Given the description of an element on the screen output the (x, y) to click on. 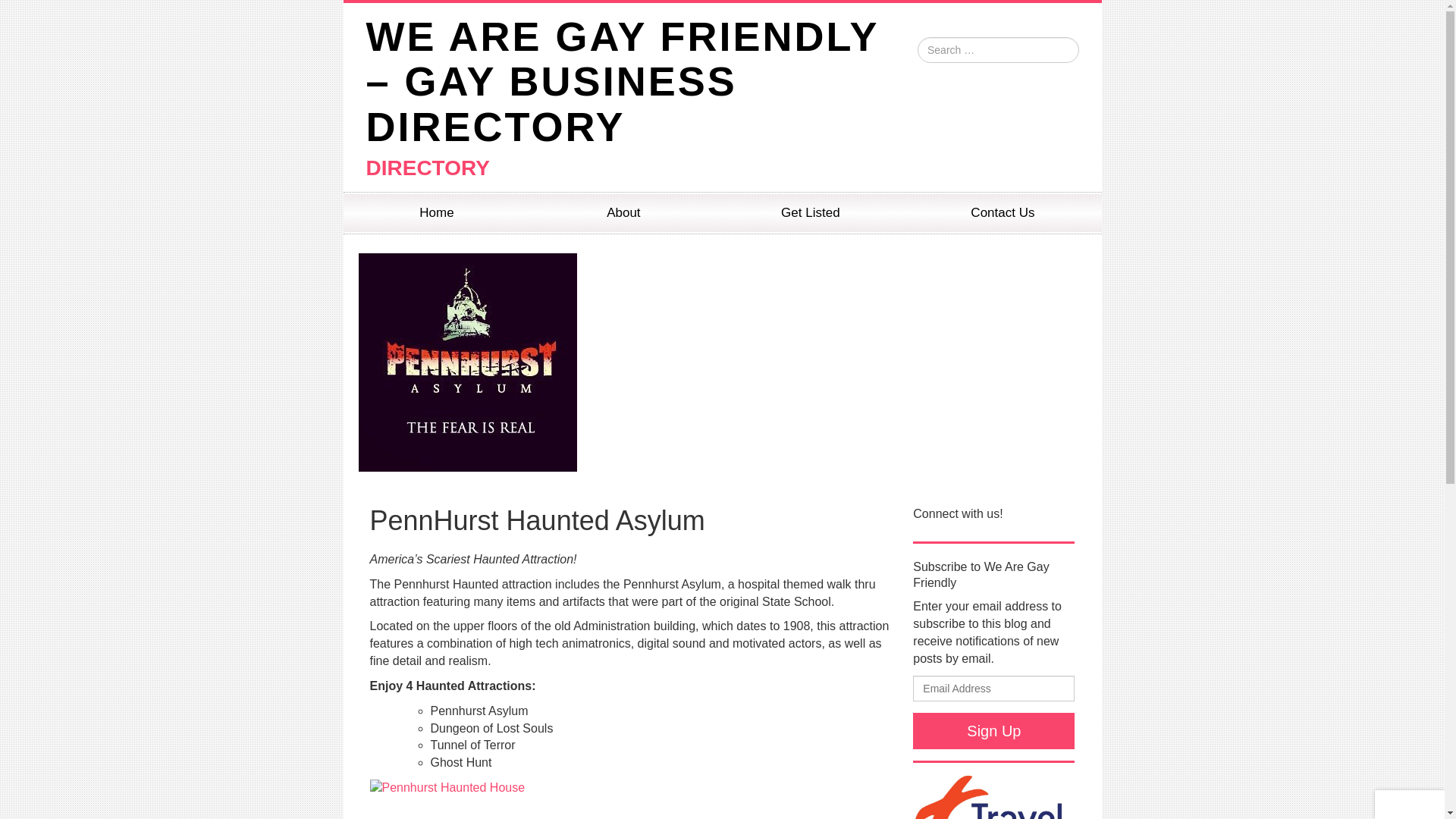
About (622, 212)
About (622, 212)
Get Listed (810, 212)
Contact Us (1002, 212)
Contact Us (1002, 212)
Home (435, 212)
Search (26, 12)
Home (435, 212)
Sign Up (993, 731)
Get Listed (810, 212)
